Given the description of an element on the screen output the (x, y) to click on. 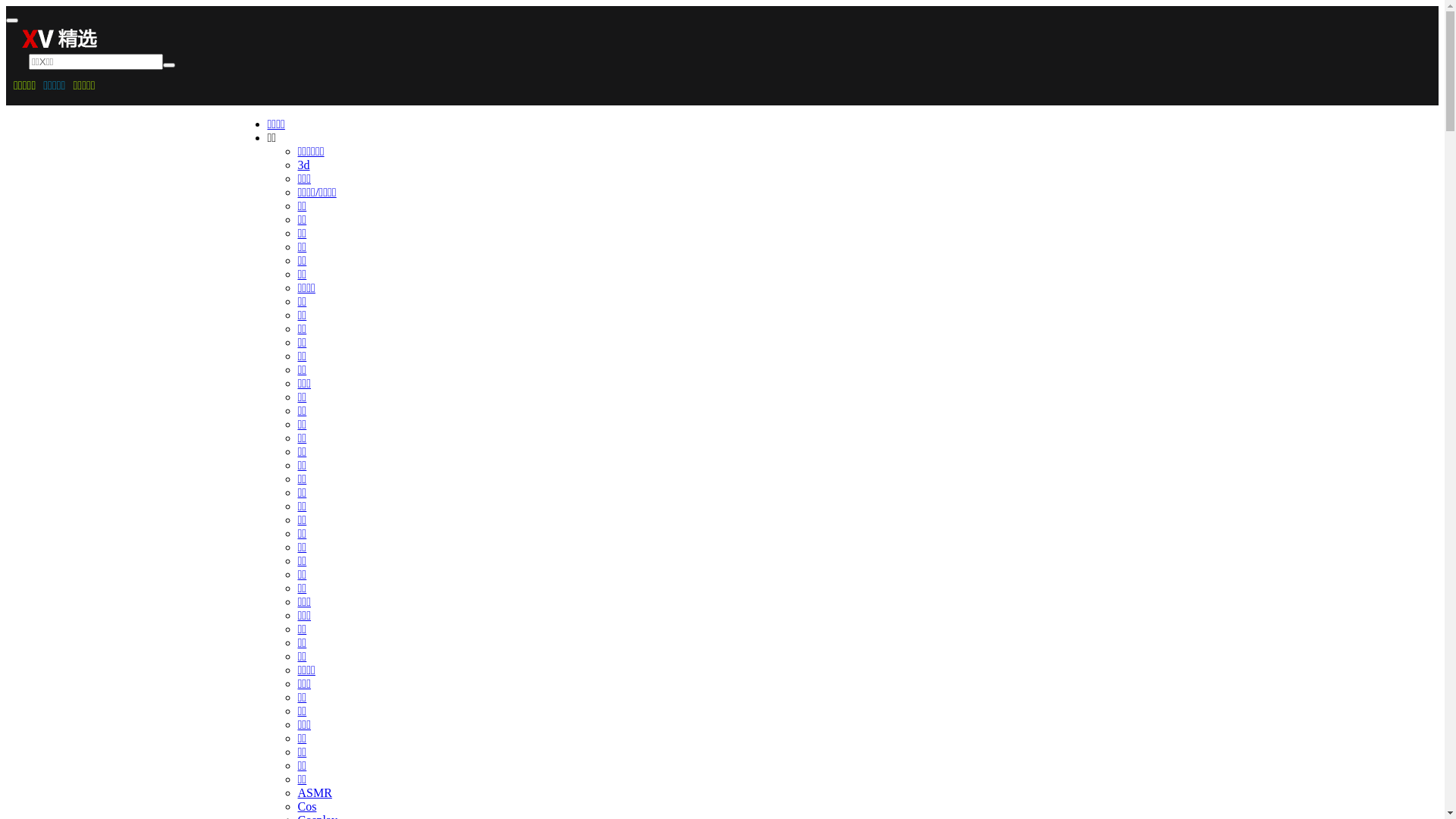
3d Element type: text (303, 164)
Cos Element type: text (306, 806)
ASMR Element type: text (314, 792)
